Given the description of an element on the screen output the (x, y) to click on. 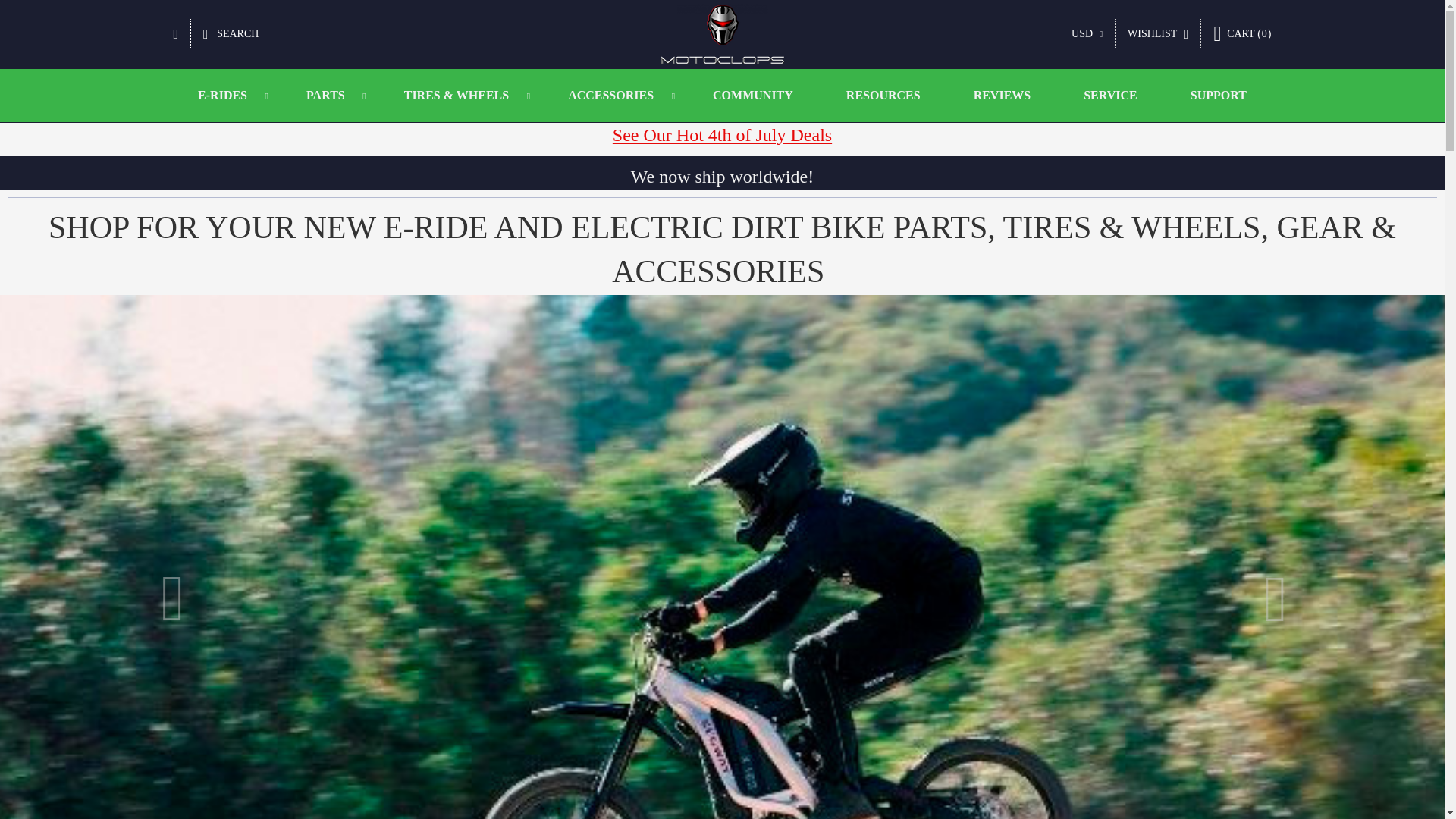
CART 0 (1241, 33)
Motoclops (722, 34)
E-RIDES (225, 95)
SEARCH (230, 33)
PARTS (328, 95)
WISHLIST (1157, 33)
USD (1087, 34)
